Given the description of an element on the screen output the (x, y) to click on. 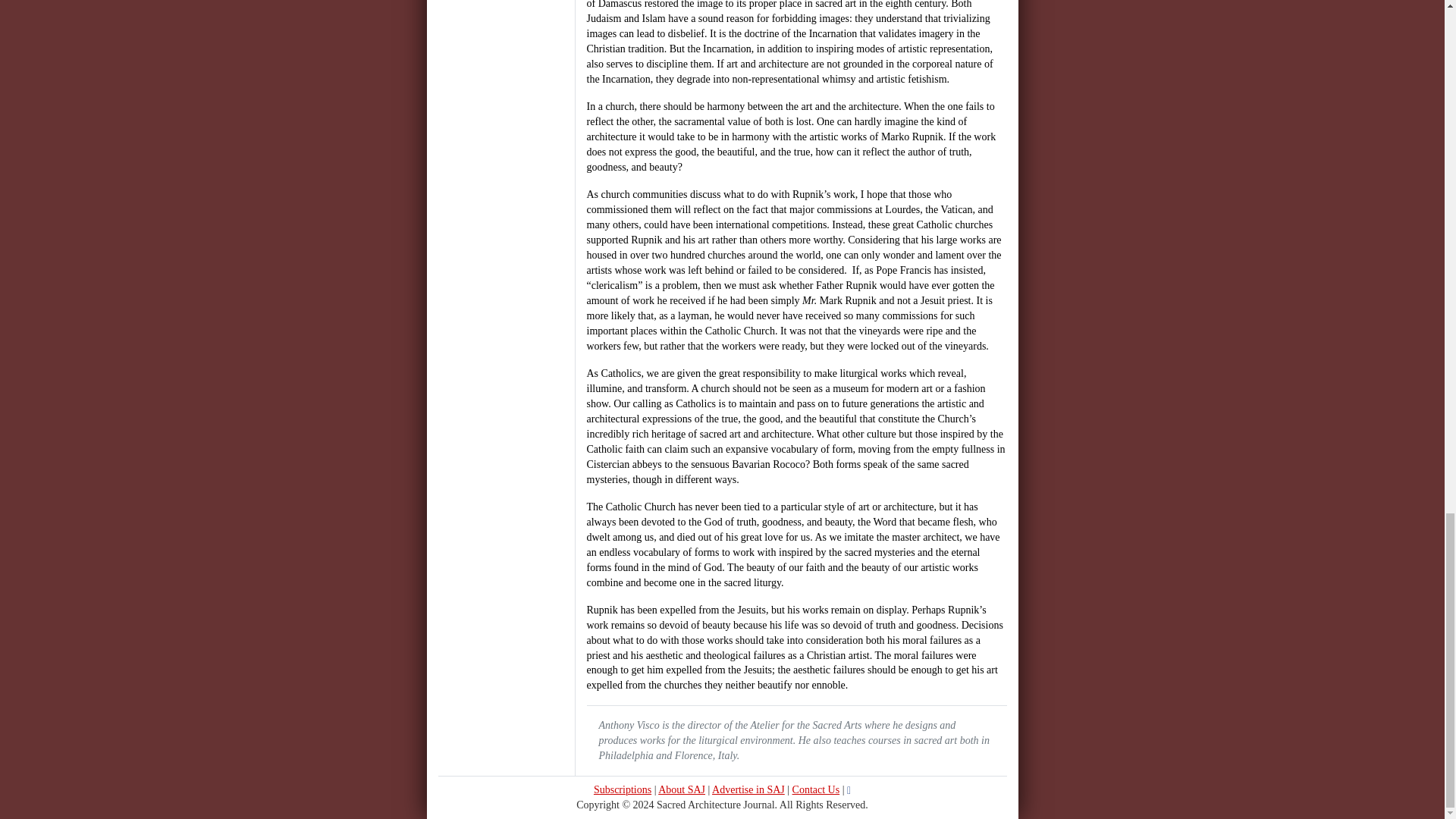
Contact Us (816, 789)
About SAJ (681, 789)
Subscriptions (622, 789)
